Given the description of an element on the screen output the (x, y) to click on. 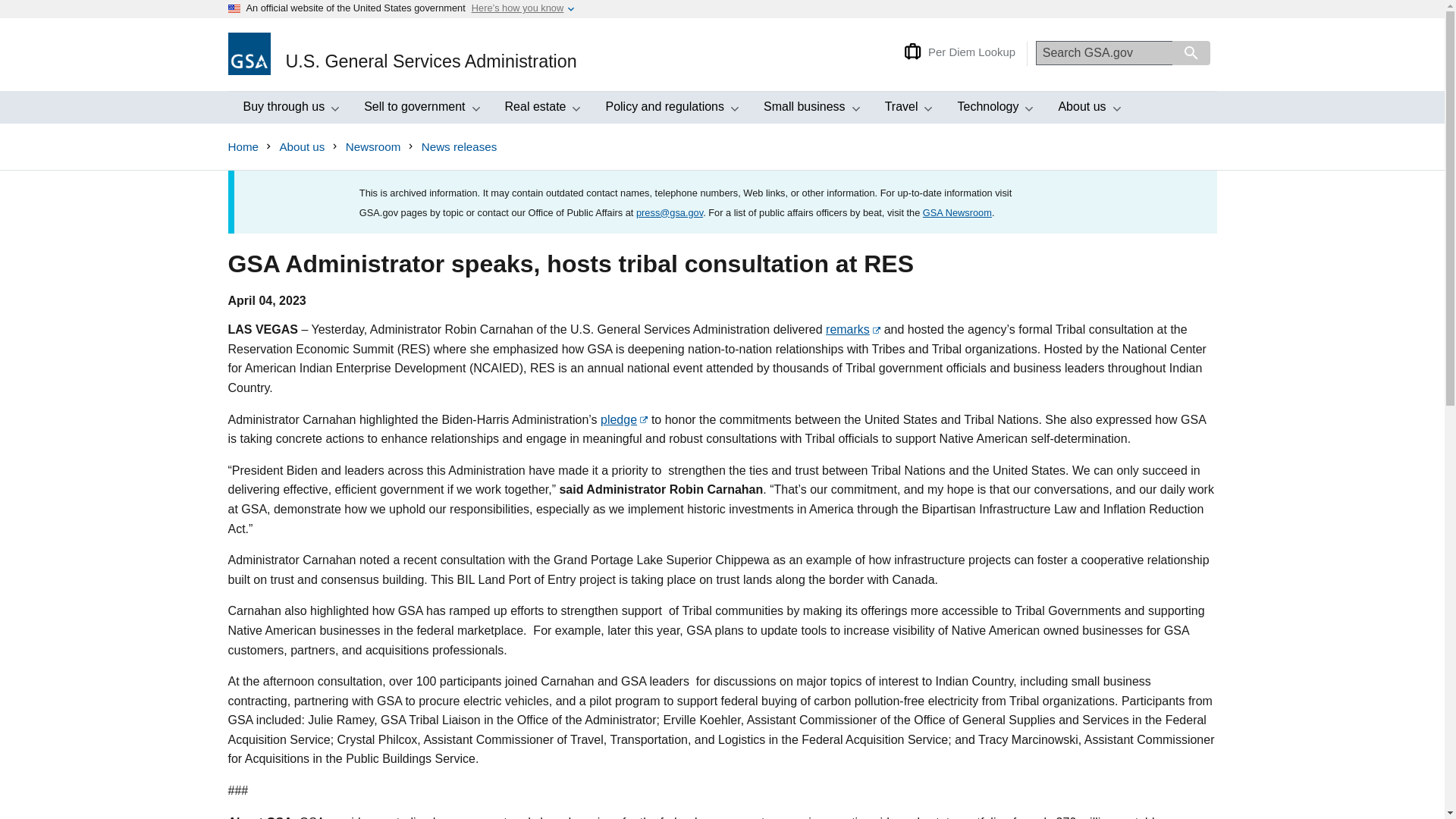
U.S. General Services Administration (288, 107)
Skip to main content (401, 54)
